Given the description of an element on the screen output the (x, y) to click on. 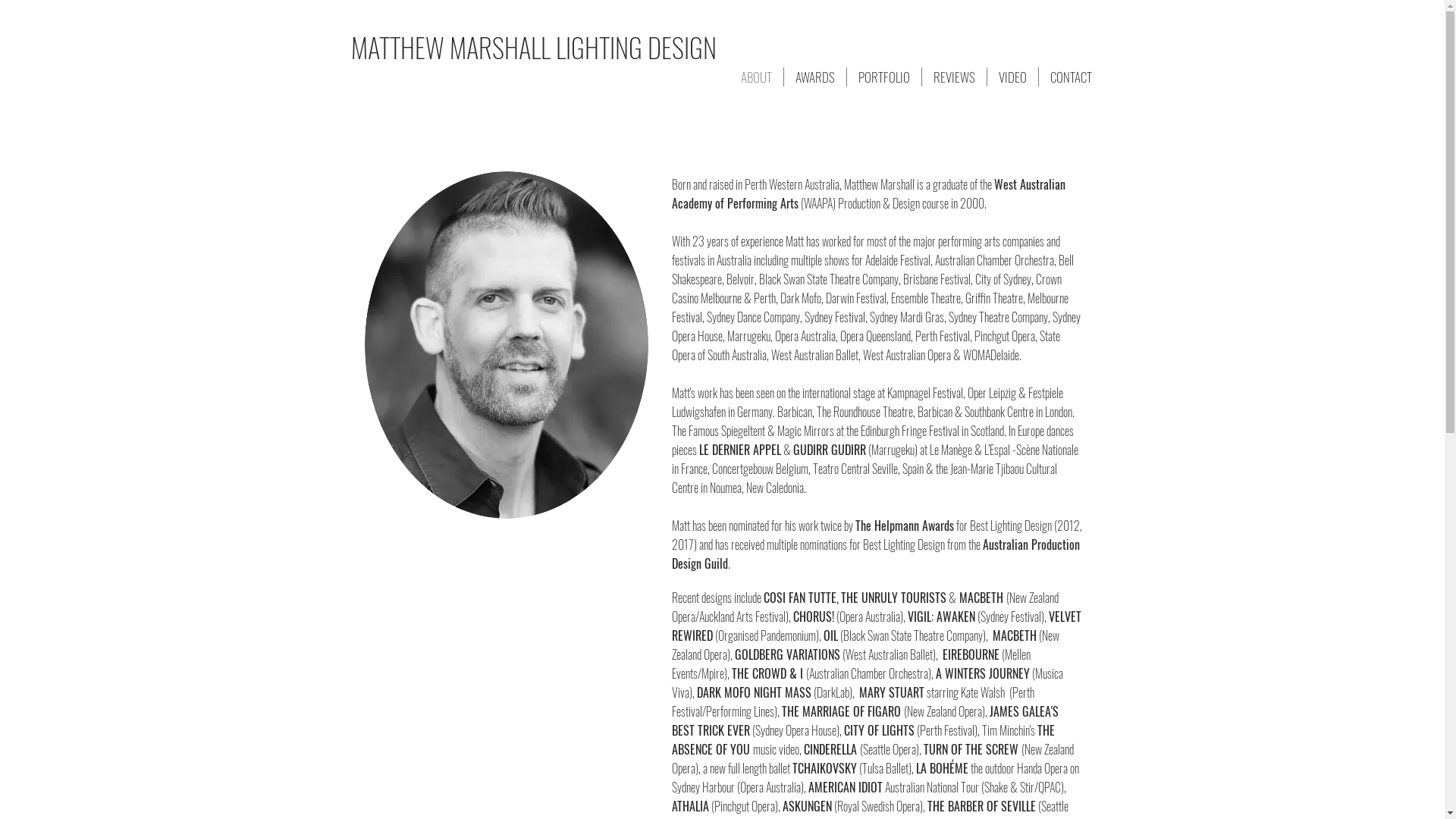
AWARDS Element type: text (815, 76)
PORTFOLIO Element type: text (884, 76)
OIL Element type: text (830, 635)
CONTACT Element type: text (1070, 76)
TURN OF THE SCREW Element type: text (970, 749)
ABOUT Element type: text (756, 76)
TCHAIKOVSKY Element type: text (823, 768)
LE DERNIER APPEL Element type: text (740, 449)
CHORUS! Element type: text (813, 616)
THE ABSENCE OF YOU Element type: text (862, 739)
Australian Production Design Guild Element type: text (875, 553)
West Australian Academy of Performing Arts Element type: text (868, 193)
THE BARBER OF SEVILLE Element type: text (980, 806)
ASKUNGEN Element type: text (806, 806)
REVIEWS Element type: text (954, 76)
COSI FAN TUTTE, Element type: text (799, 597)
THE UNRULY TOURISTS Element type: text (892, 597)
CINDERELLA Element type: text (829, 749)
VELVET REWIRED Element type: text (876, 625)
VIDEO Element type: text (1012, 76)
ATHALIA Element type: text (690, 806)
VIGIL: AWAKEN Element type: text (940, 616)
AMERICAN IDIOT Element type: text (845, 787)
The Helpmann Awards Element type: text (904, 525)
THE MARRIAGE OF FIGARO Element type: text (840, 711)
MATTHEW MARSHALL LIGHTING DESIGN Element type: text (532, 49)
